Given the description of an element on the screen output the (x, y) to click on. 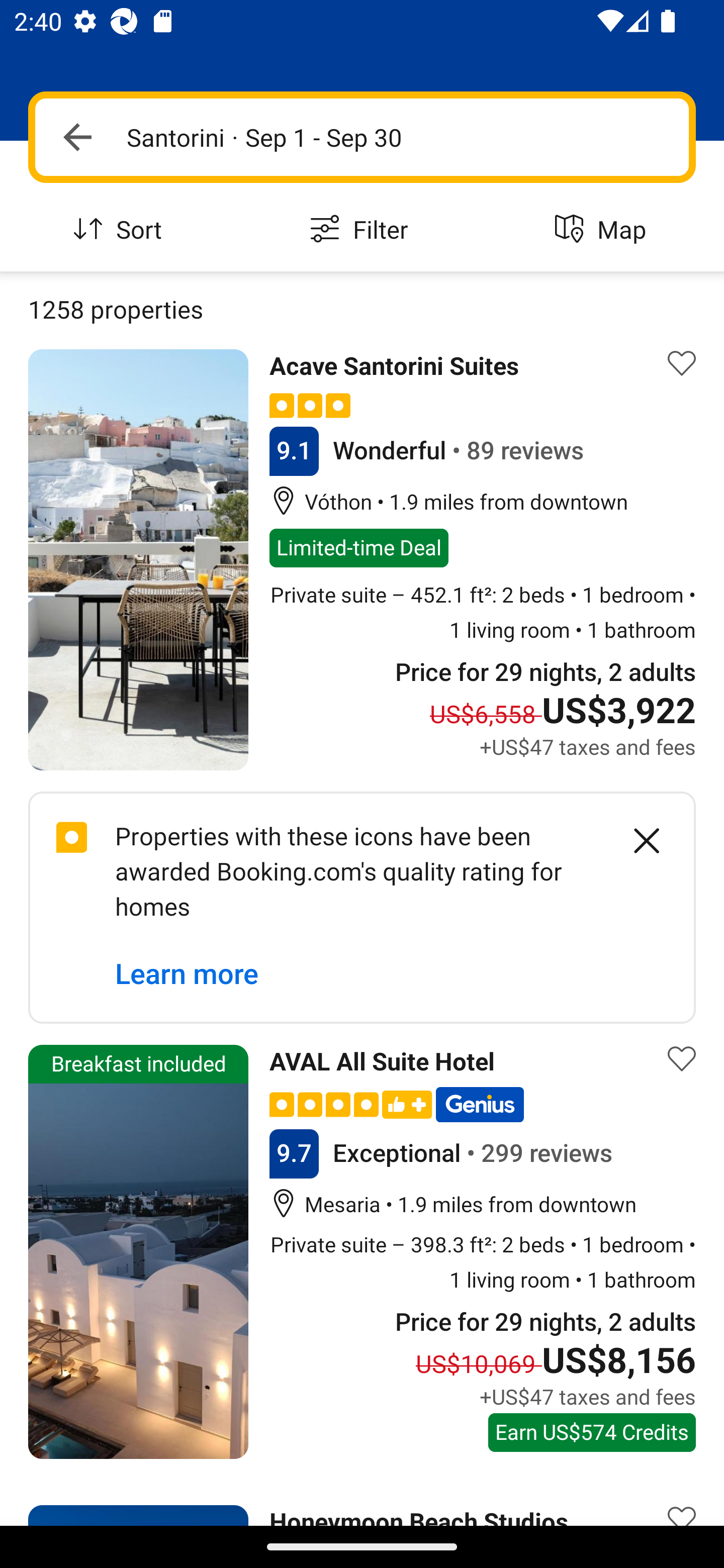
Navigate up Santorini · Sep 1 - Sep 30 (362, 136)
Navigate up (77, 136)
Sort (120, 230)
Filter (361, 230)
Map (603, 230)
Save property to list (681, 363)
Clear (635, 840)
Learn more (187, 974)
Save property to list (681, 1058)
Save property to list (681, 1501)
